Given the description of an element on the screen output the (x, y) to click on. 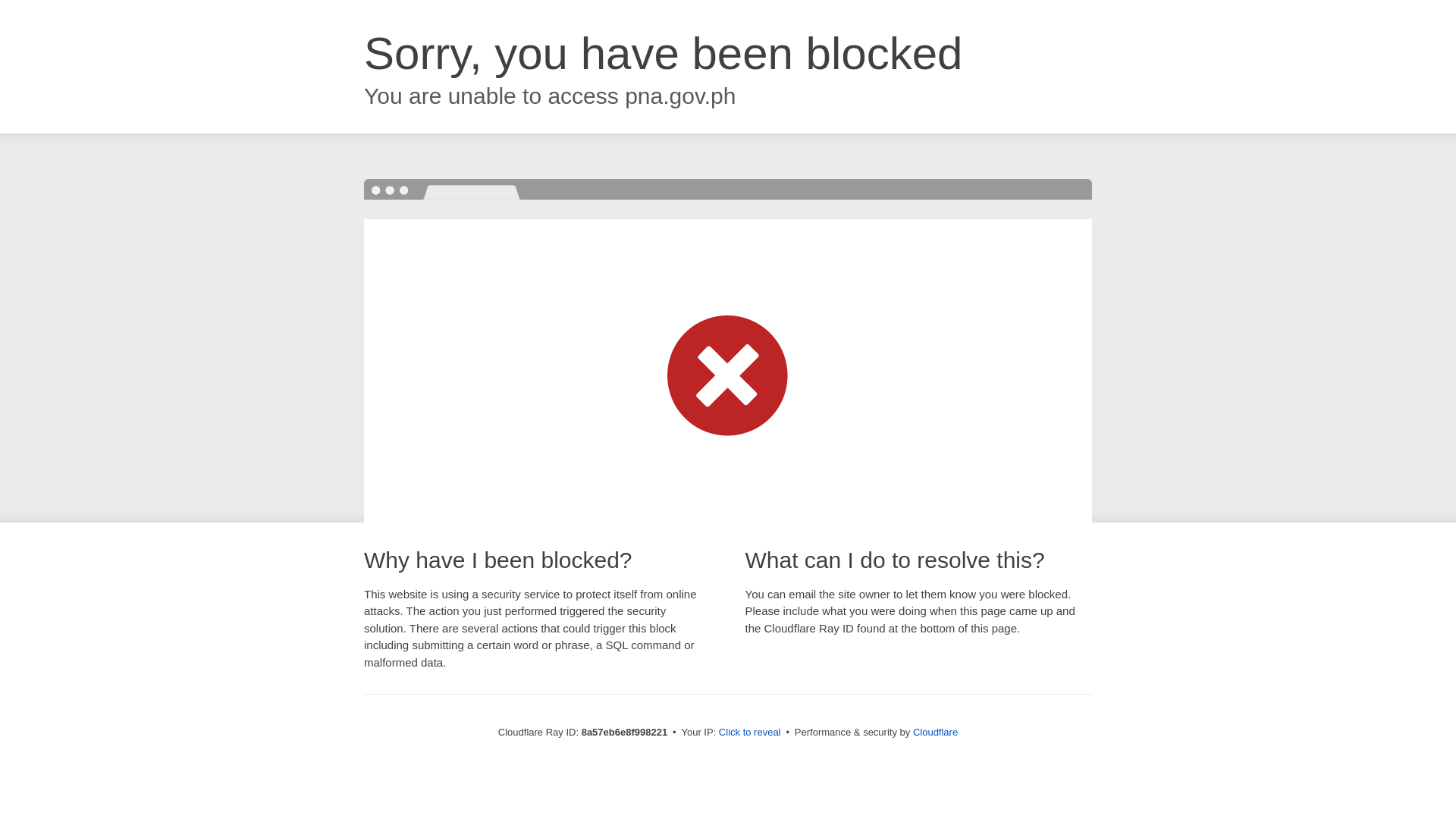
Cloudflare (935, 731)
Click to reveal (749, 732)
